Given the description of an element on the screen output the (x, y) to click on. 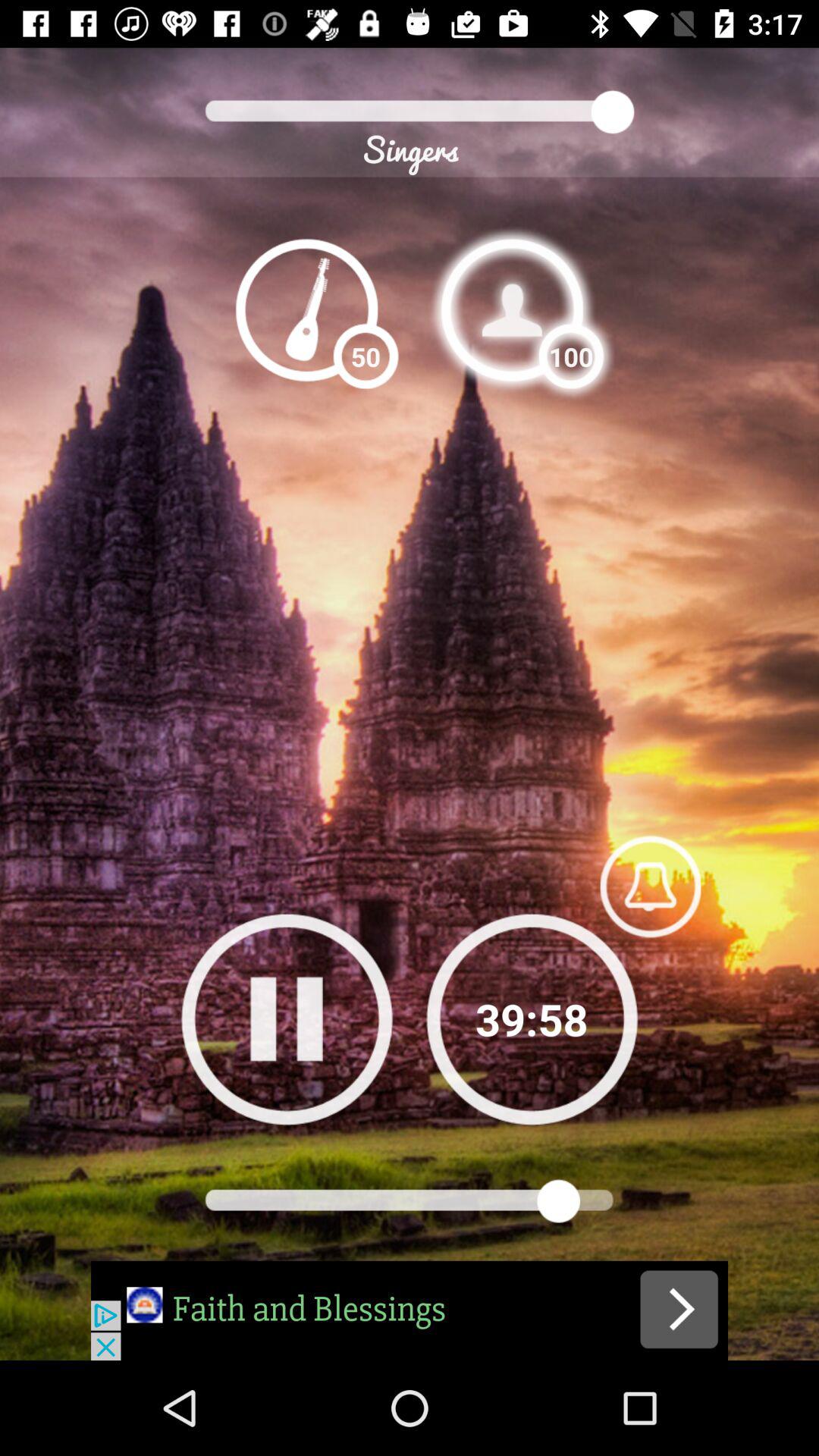
button to pause something (286, 1018)
